Given the description of an element on the screen output the (x, y) to click on. 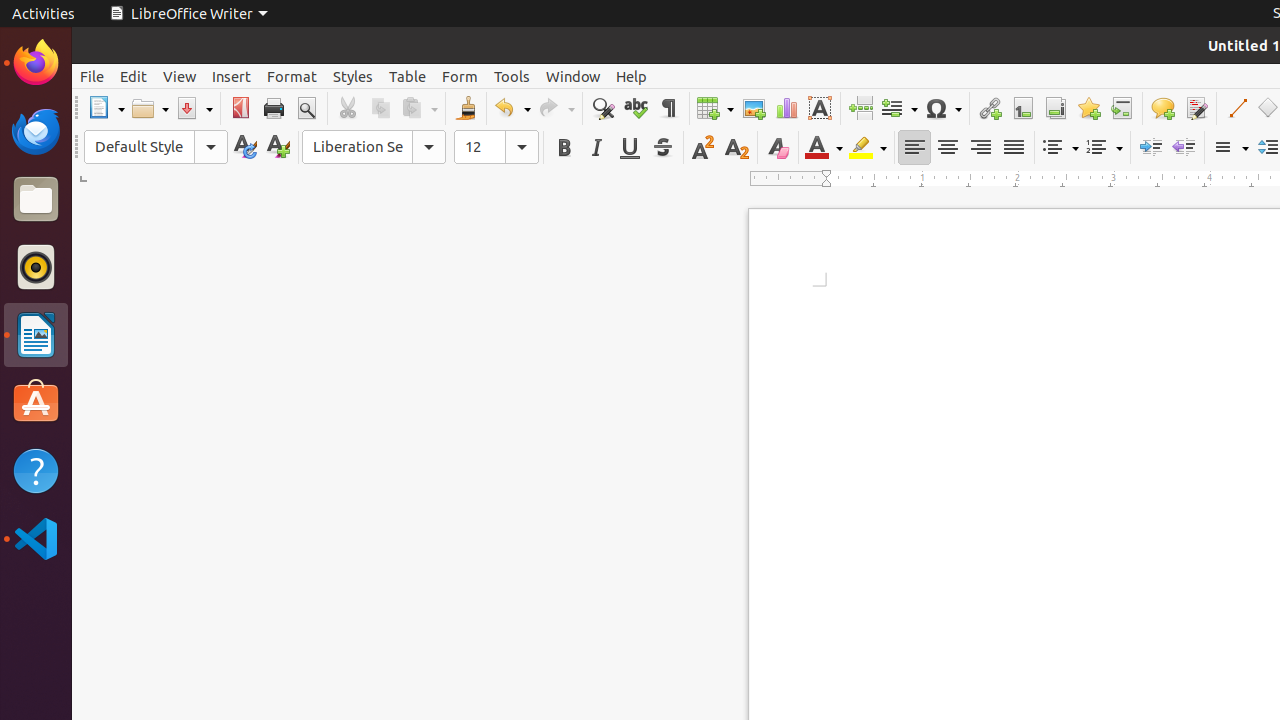
Window Element type: menu (573, 76)
Format Element type: menu (292, 76)
Table Element type: push-button (715, 108)
Comment Element type: push-button (1162, 108)
Italic Element type: toggle-button (596, 147)
